Given the description of an element on the screen output the (x, y) to click on. 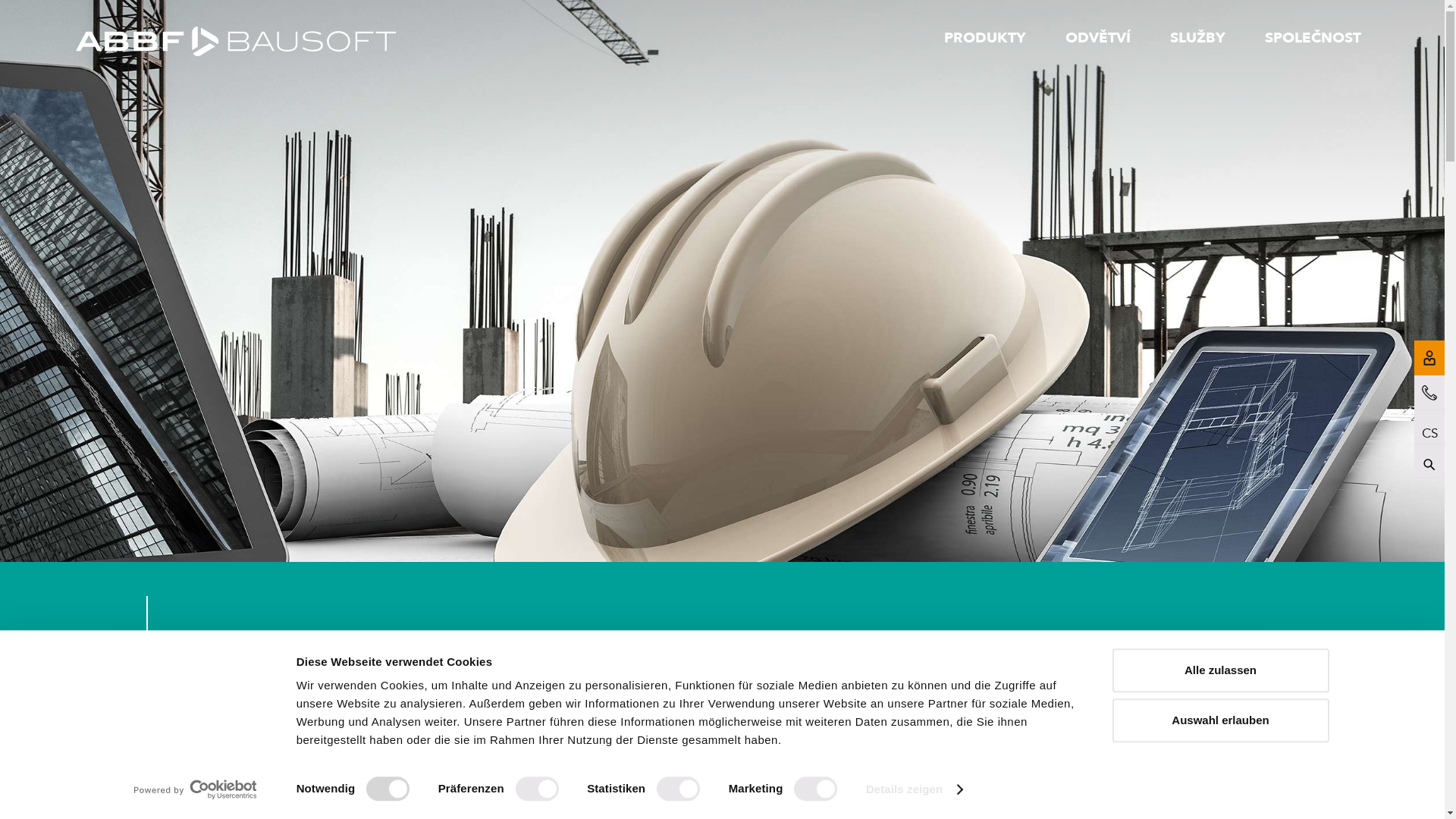
Auswahl erlauben Element type: text (1219, 720)
abbf.ch Element type: hover (235, 43)
Details zeigen Element type: text (914, 789)
Alle zulassen Element type: text (1219, 670)
PRODUKTY Element type: text (983, 36)
